Given the description of an element on the screen output the (x, y) to click on. 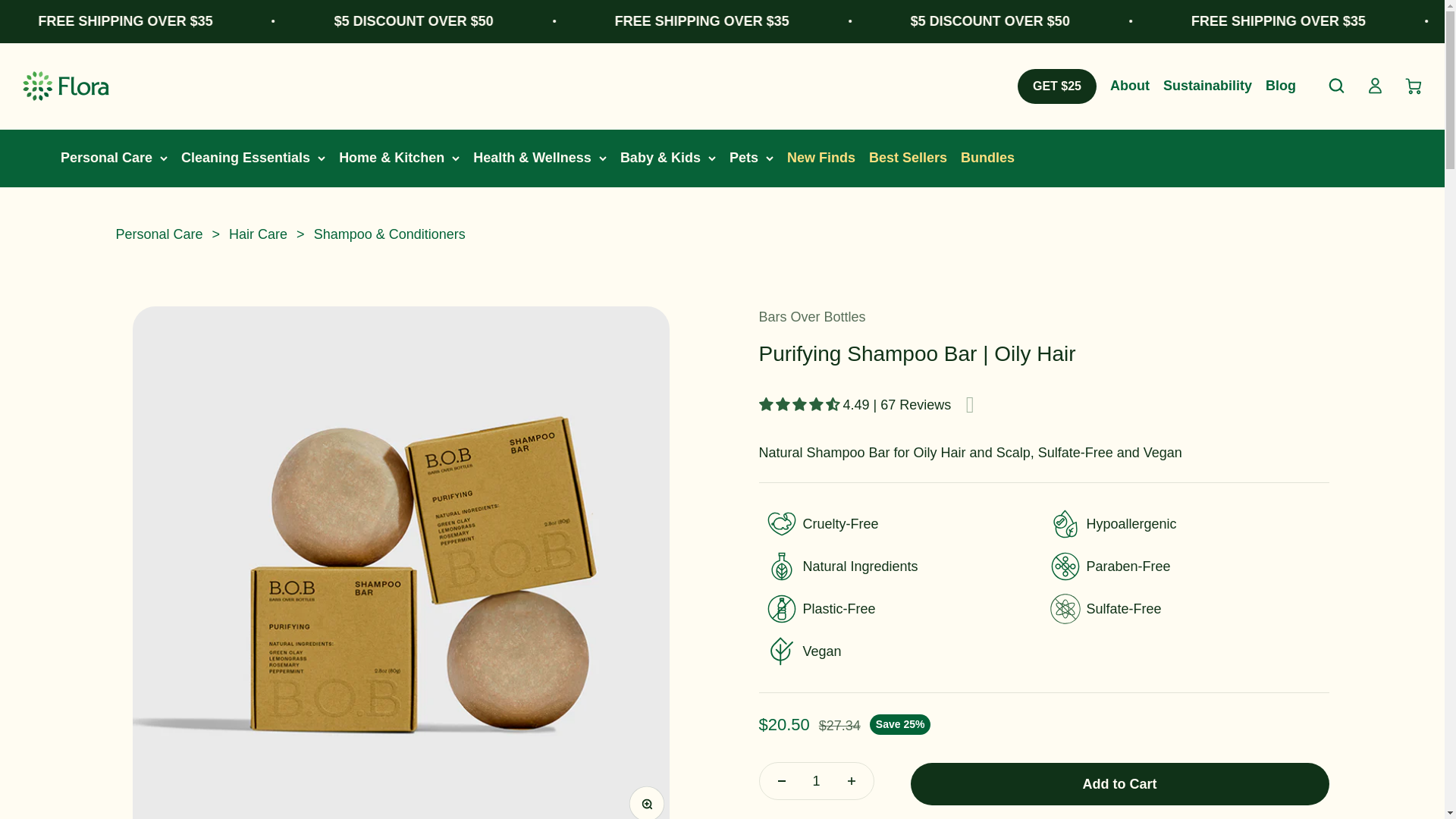
Open Account Page (1375, 86)
About (1129, 85)
Flora (66, 85)
1 (816, 780)
Open Search (1413, 86)
Personal Care (1336, 86)
Sustainability (106, 157)
Blog (1207, 85)
